Given the description of an element on the screen output the (x, y) to click on. 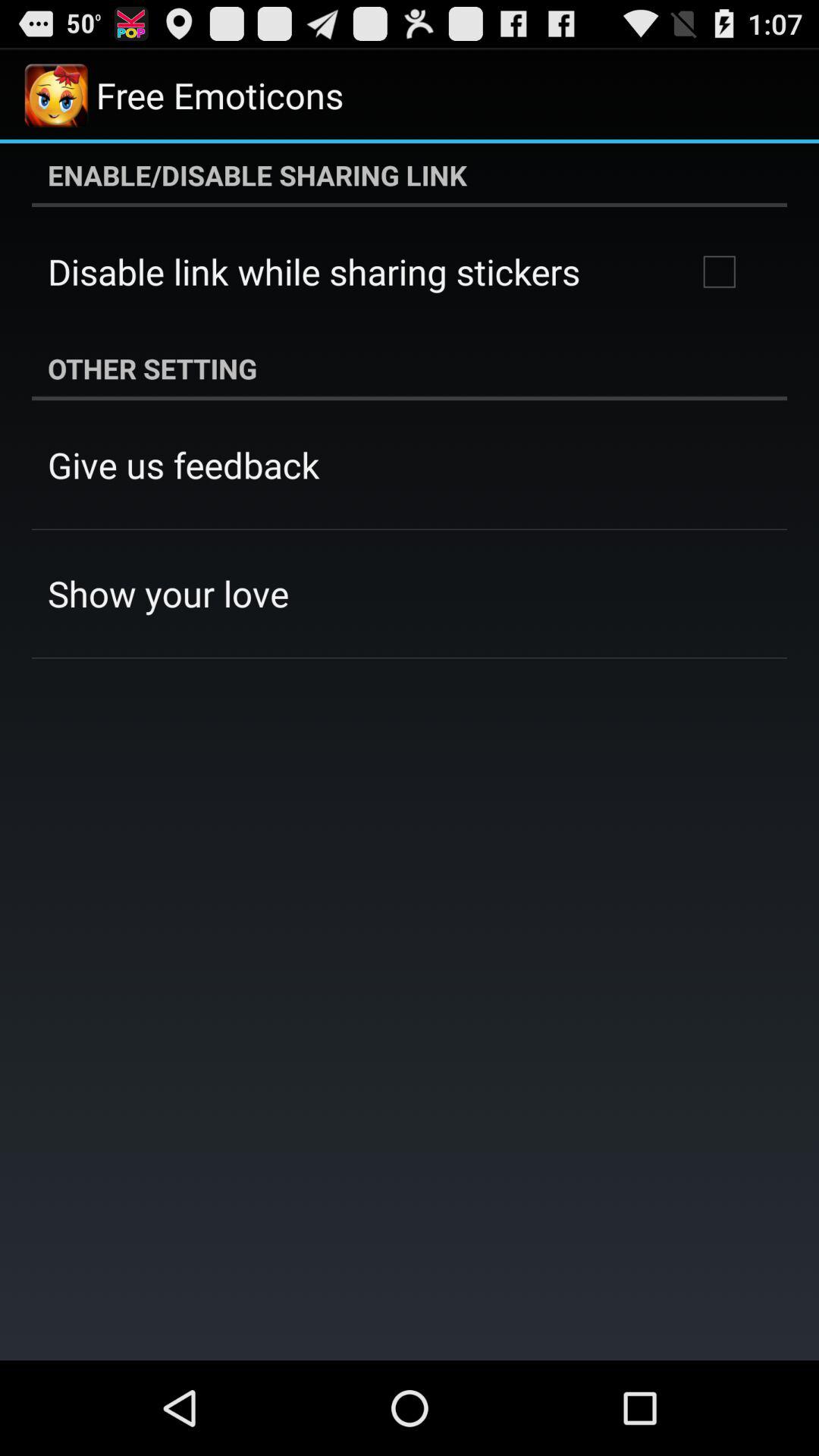
turn on app to the right of the disable link while app (719, 271)
